Given the description of an element on the screen output the (x, y) to click on. 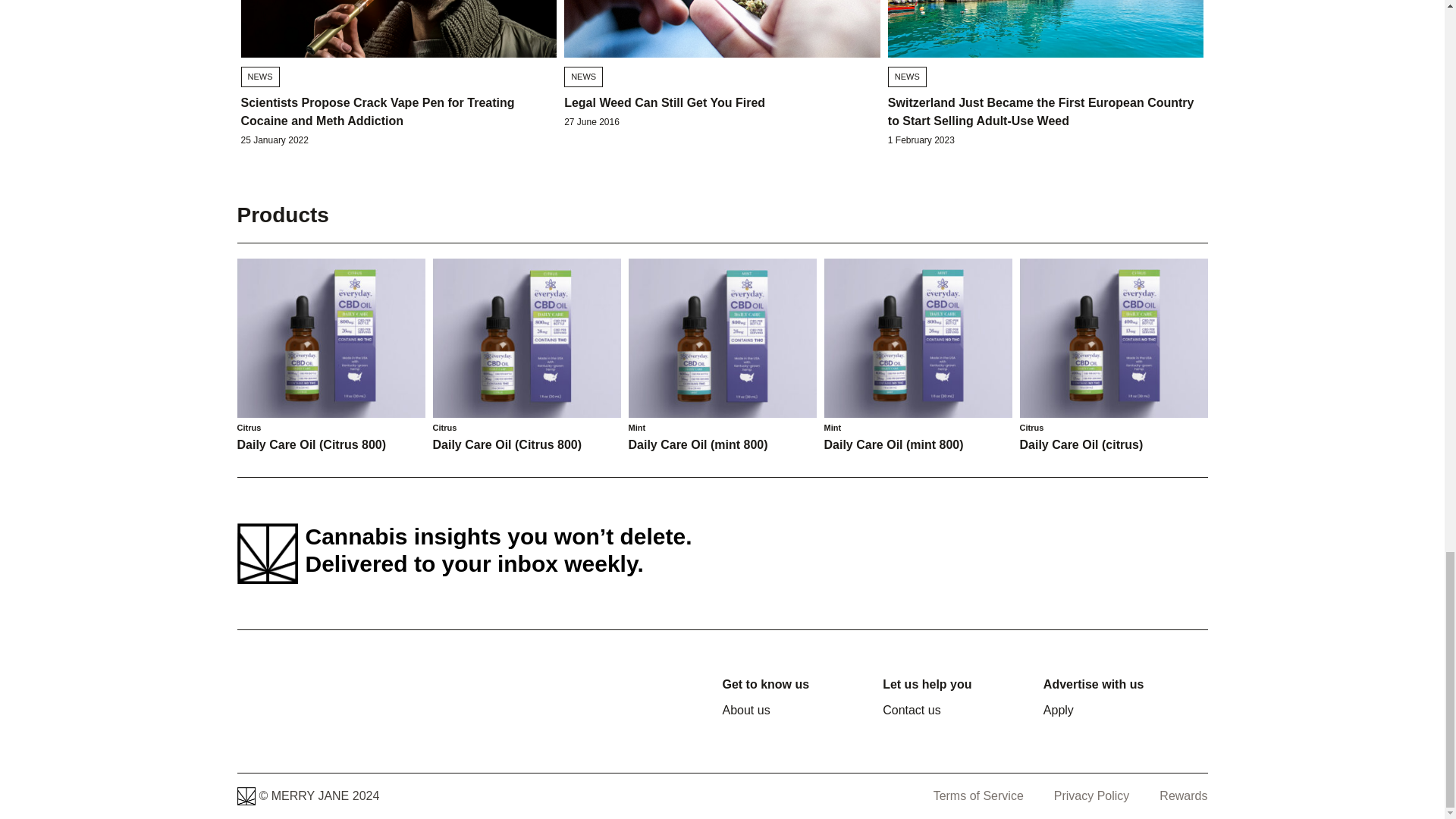
NEWS (907, 76)
NEWS (583, 76)
NEWS (260, 76)
Legal Weed Can Still Get You Fired (664, 102)
